Given the description of an element on the screen output the (x, y) to click on. 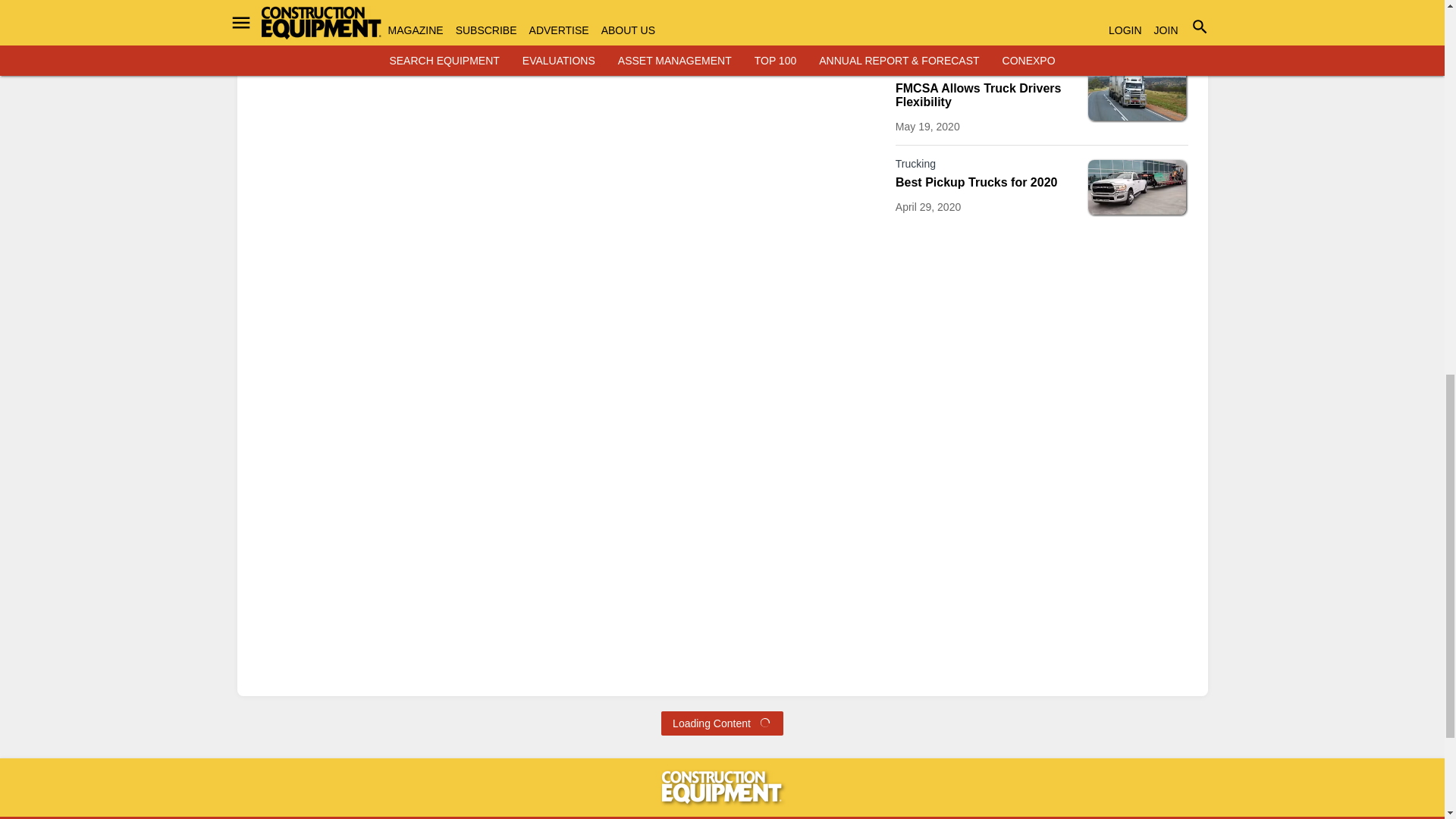
Primo-IAS-idling-system (1136, 13)
Ram-HD-pickup-truck-with-trailer (1136, 186)
